Given the description of an element on the screen output the (x, y) to click on. 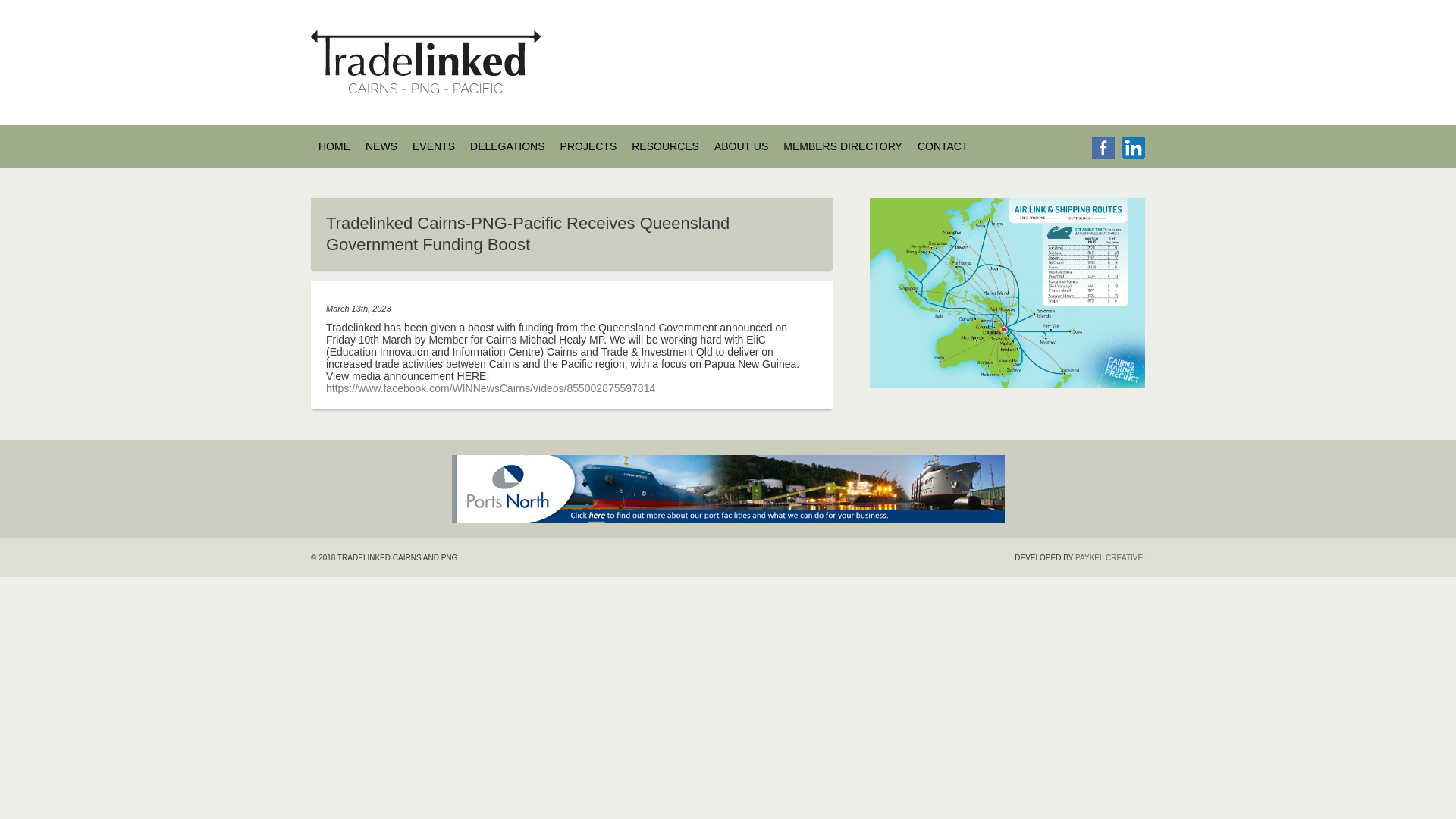
PROJECTS (588, 146)
NEWS (381, 146)
DELEGATIONS (507, 146)
RESOURCES (664, 146)
HOME (334, 146)
EVENTS (433, 146)
